Given the description of an element on the screen output the (x, y) to click on. 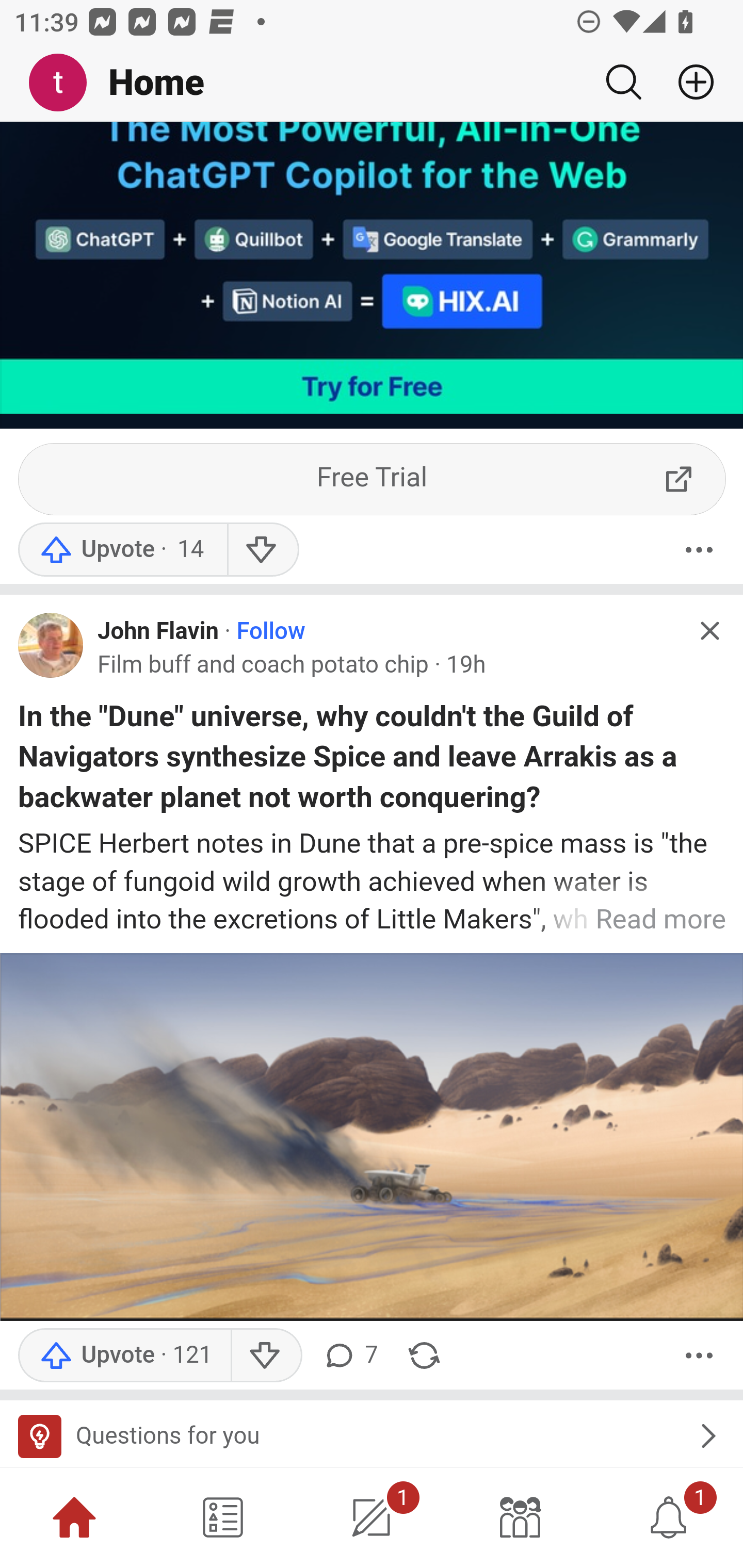
Me (64, 83)
Search (623, 82)
Add (688, 82)
Free Trial ExternalLink (372, 480)
Upvote (122, 550)
Downvote (262, 550)
More (699, 550)
Hide (709, 630)
Profile photo for John Flavin (50, 647)
John Flavin (158, 632)
Follow (270, 632)
Upvote (124, 1357)
Downvote (266, 1357)
7 comments (349, 1357)
Share (424, 1357)
More (699, 1357)
Questions for you (371, 1435)
1 (371, 1517)
1 (668, 1517)
